Given the description of an element on the screen output the (x, y) to click on. 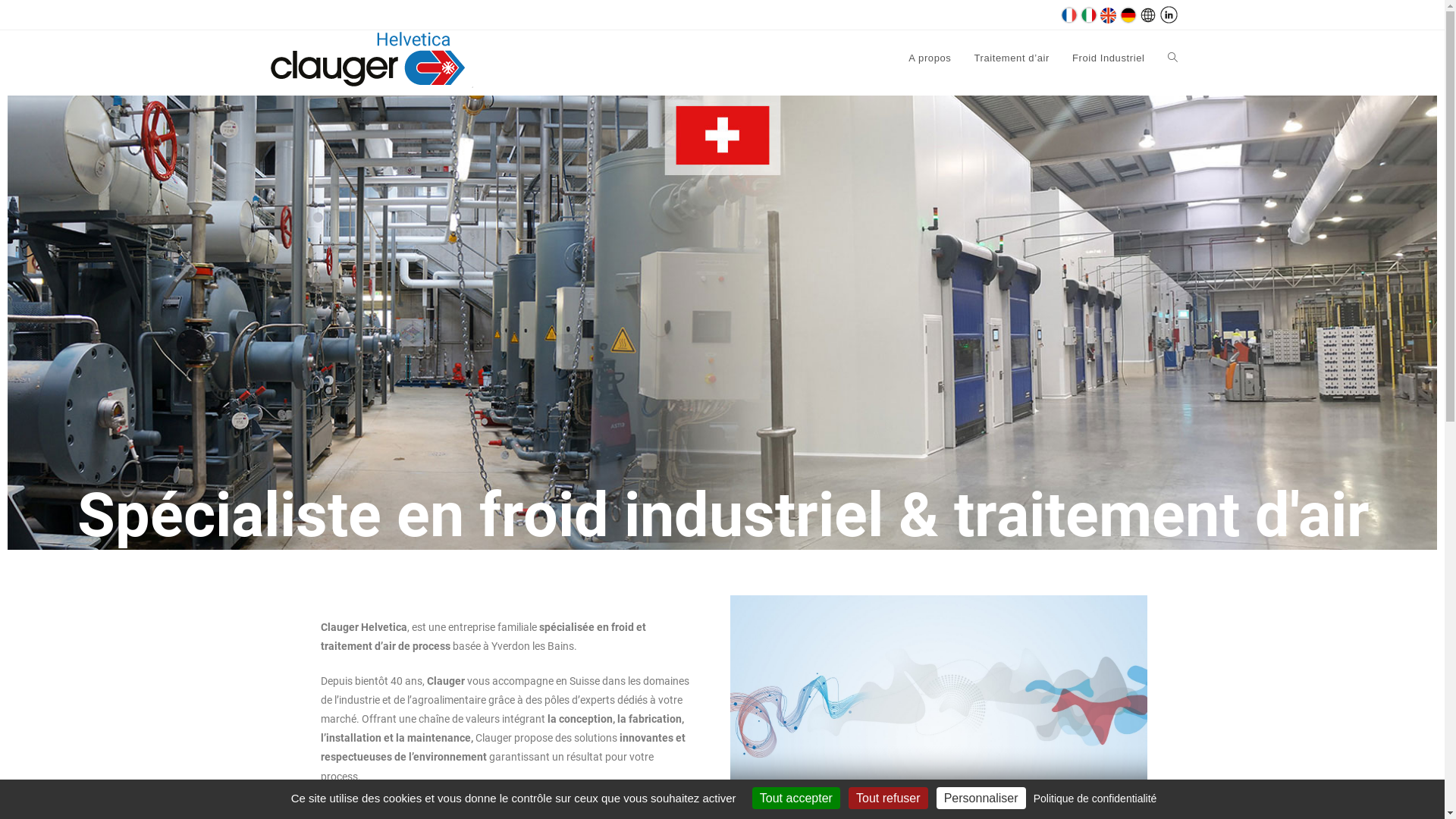
Personnaliser Element type: text (981, 798)
Tout refuser Element type: text (887, 798)
Froid Industriel Element type: text (1108, 58)
A propos Element type: text (929, 58)
Tout accepter Element type: text (796, 798)
